Given the description of an element on the screen output the (x, y) to click on. 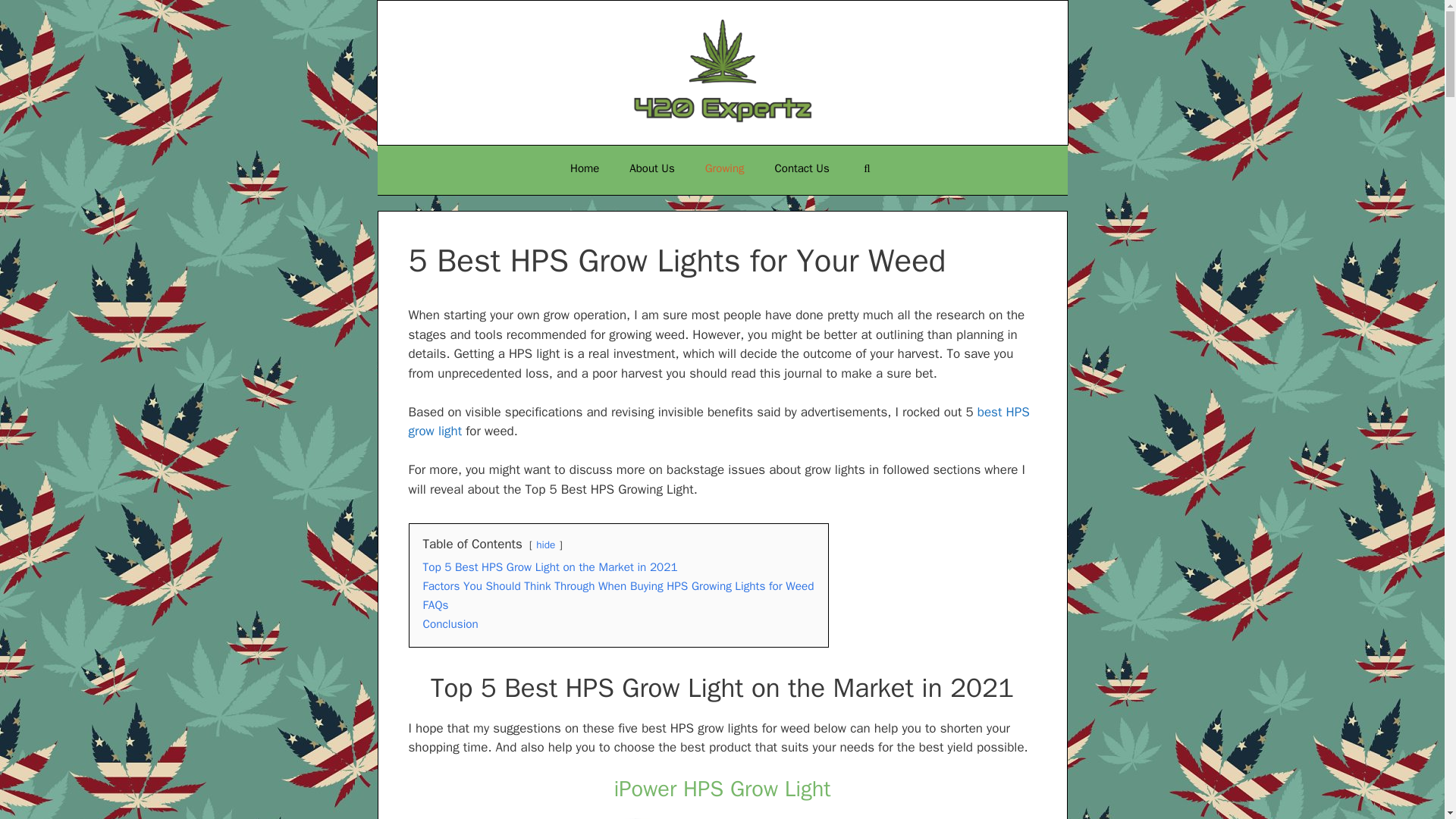
best HPS grow light (718, 421)
Home (584, 167)
About Us (651, 167)
Conclusion (451, 623)
Growing (725, 167)
hide (544, 544)
FAQs (435, 604)
Top 5 Best HPS Grow Light on the Market in 2021 (550, 566)
Contact Us (802, 167)
